Given the description of an element on the screen output the (x, y) to click on. 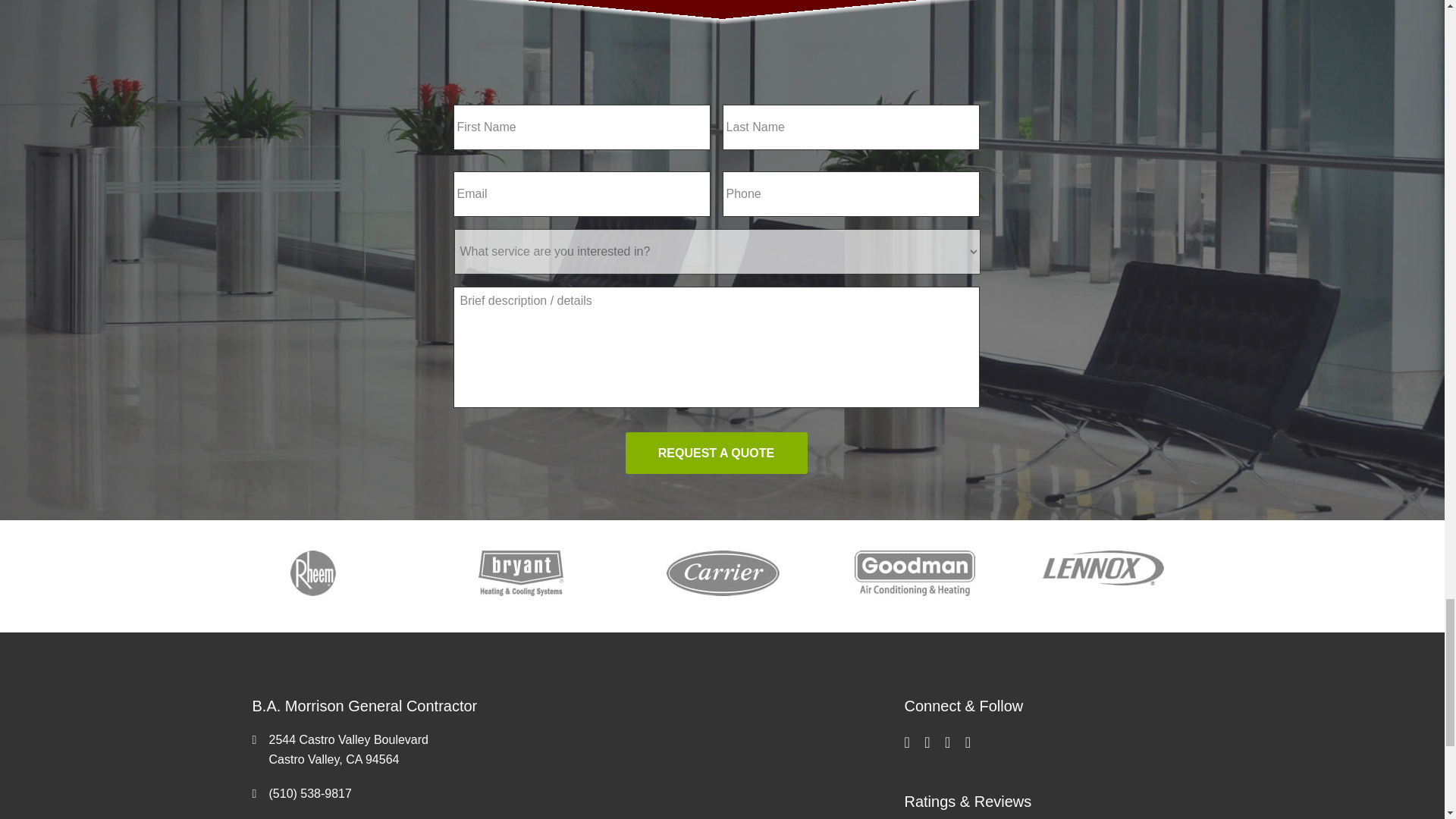
REQUEST A QUOTE (715, 453)
